Given the description of an element on the screen output the (x, y) to click on. 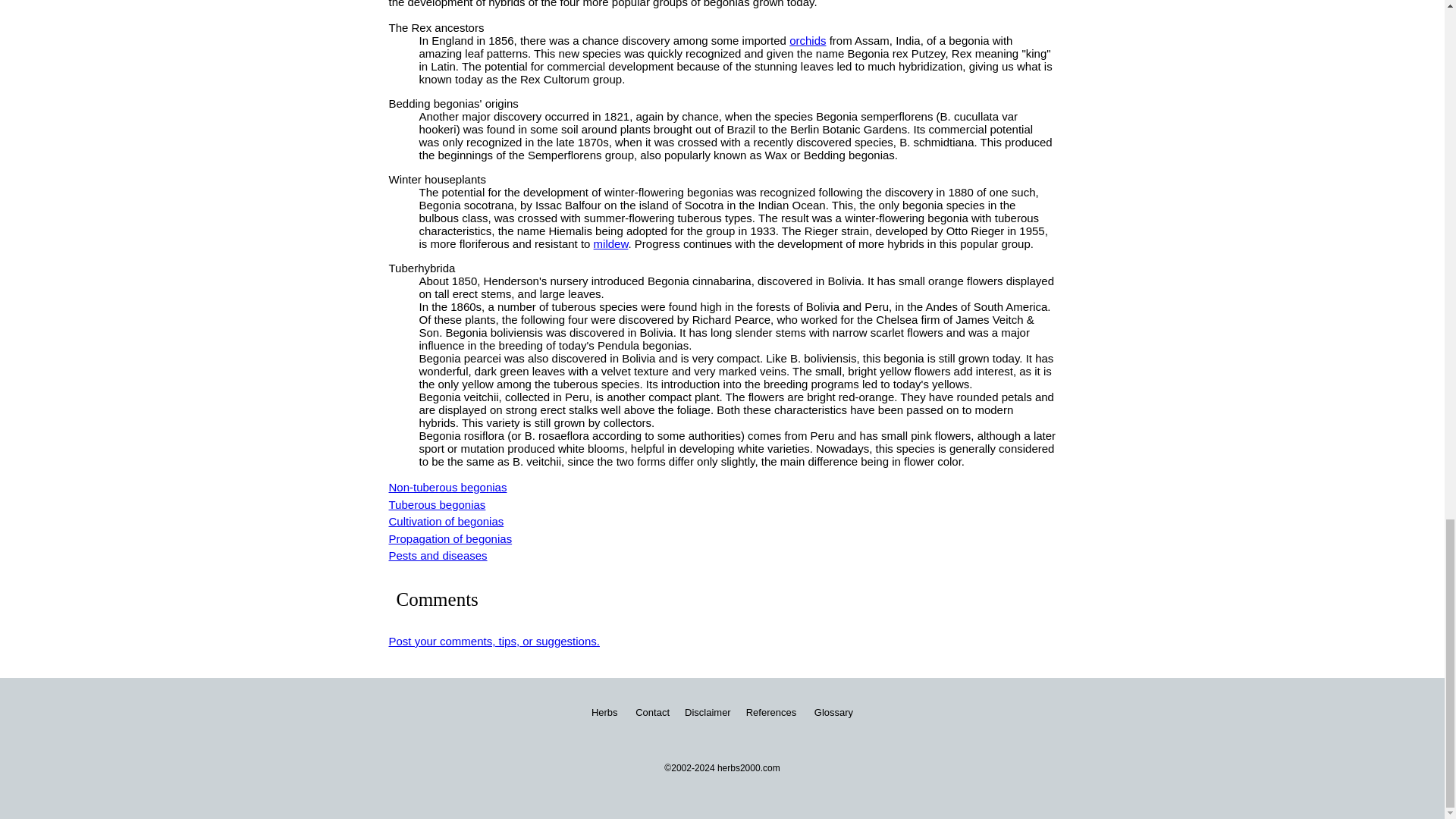
Disclaimer (707, 712)
Cultivation of begonias (445, 521)
Propagation of begonias (450, 538)
Herbs (604, 712)
mildew (611, 243)
Tuberous begonias (436, 504)
Glossary (833, 712)
orchids (807, 40)
Pests and diseases (437, 554)
Non-tuberous begonias (447, 486)
